Given the description of an element on the screen output the (x, y) to click on. 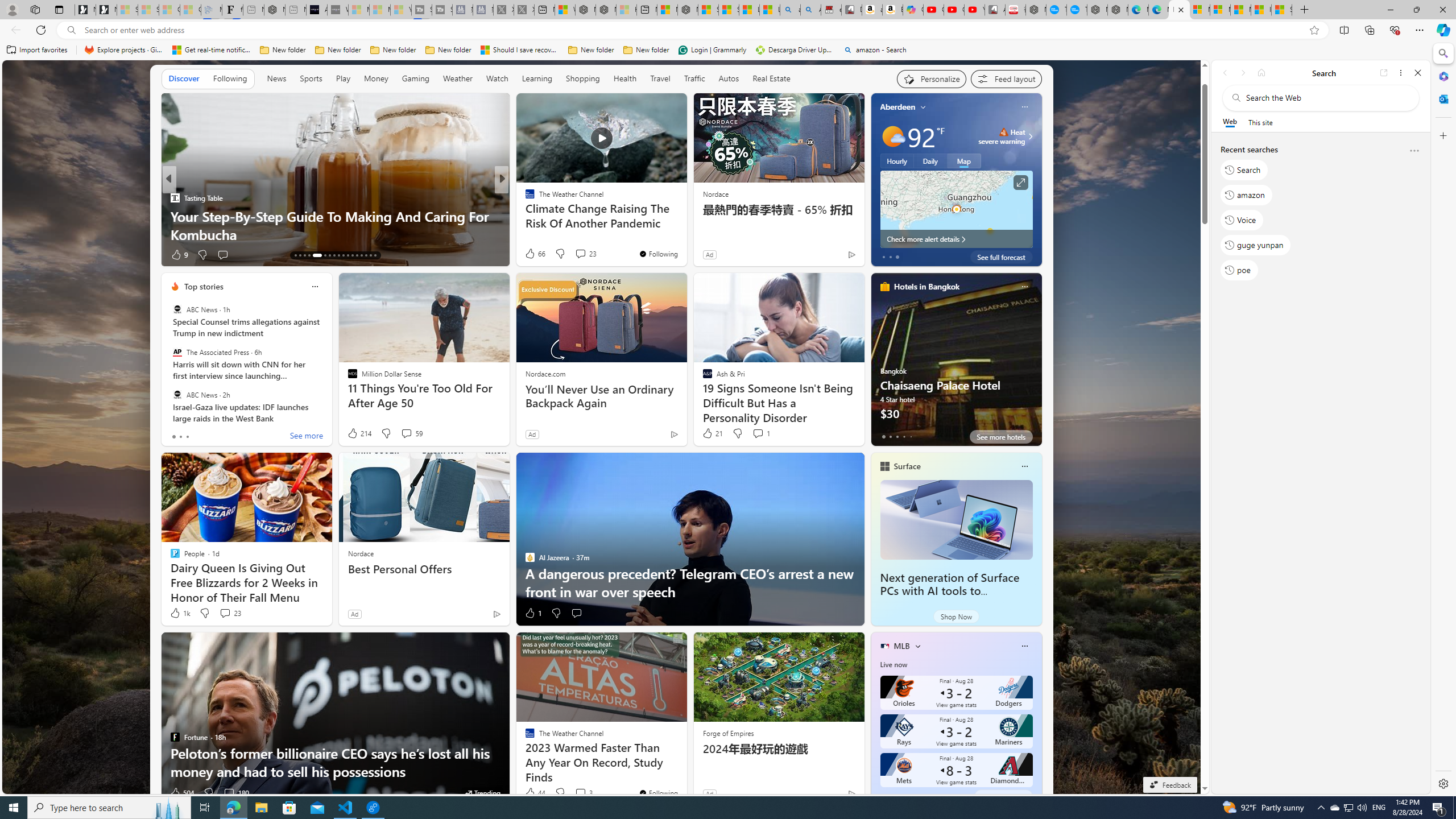
poe (1238, 269)
See more hotels (1000, 436)
Should I save recovered Word documents? - Microsoft Support (519, 49)
490 Like (532, 254)
44 Like (534, 792)
Copilot (913, 9)
amazon.in/dp/B0CX59H5W7/?tag=gsmcom05-21 (871, 9)
Recent searchesSearchamazonVoiceguge yunpanpoe (1320, 214)
21 Like (712, 433)
The Daily Beast (524, 197)
504 Like (181, 792)
